Given the description of an element on the screen output the (x, y) to click on. 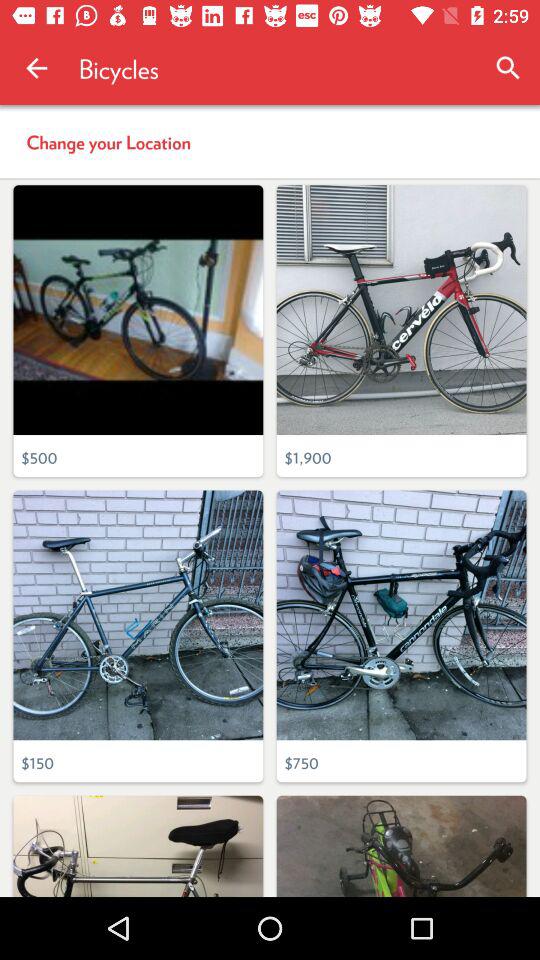
select item to the left of the bicycles icon (36, 68)
